Given the description of an element on the screen output the (x, y) to click on. 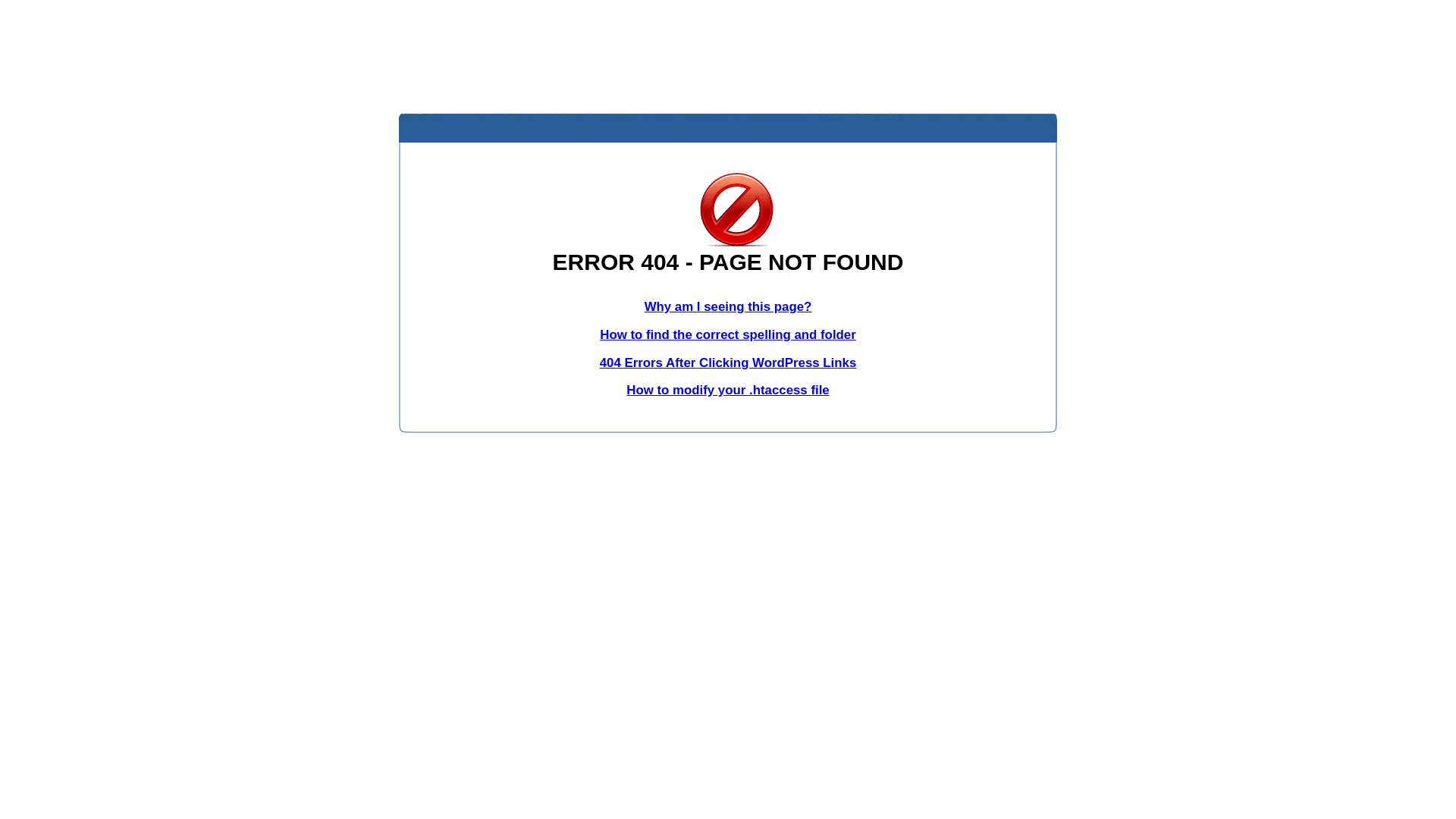
How to modify your .htaccess file Element type: text (727, 389)
Why am I seeing this page? Element type: text (728, 306)
How to find the correct spelling and folder Element type: text (727, 334)
404 Errors After Clicking WordPress Links Element type: text (727, 362)
